Given the description of an element on the screen output the (x, y) to click on. 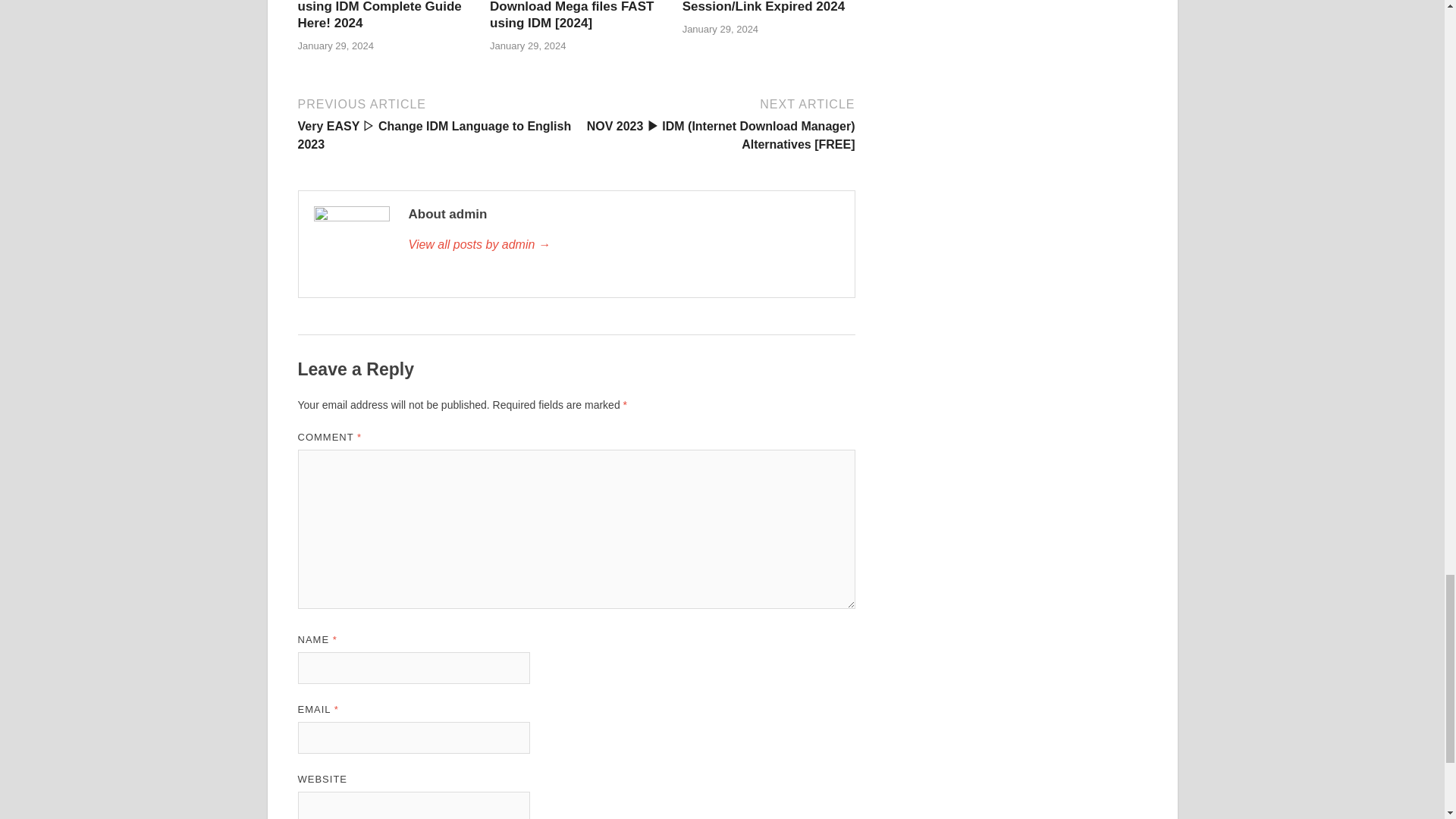
admin (622, 244)
Download Torrent files using IDM Complete Guide Here! 2024 (379, 15)
